Given the description of an element on the screen output the (x, y) to click on. 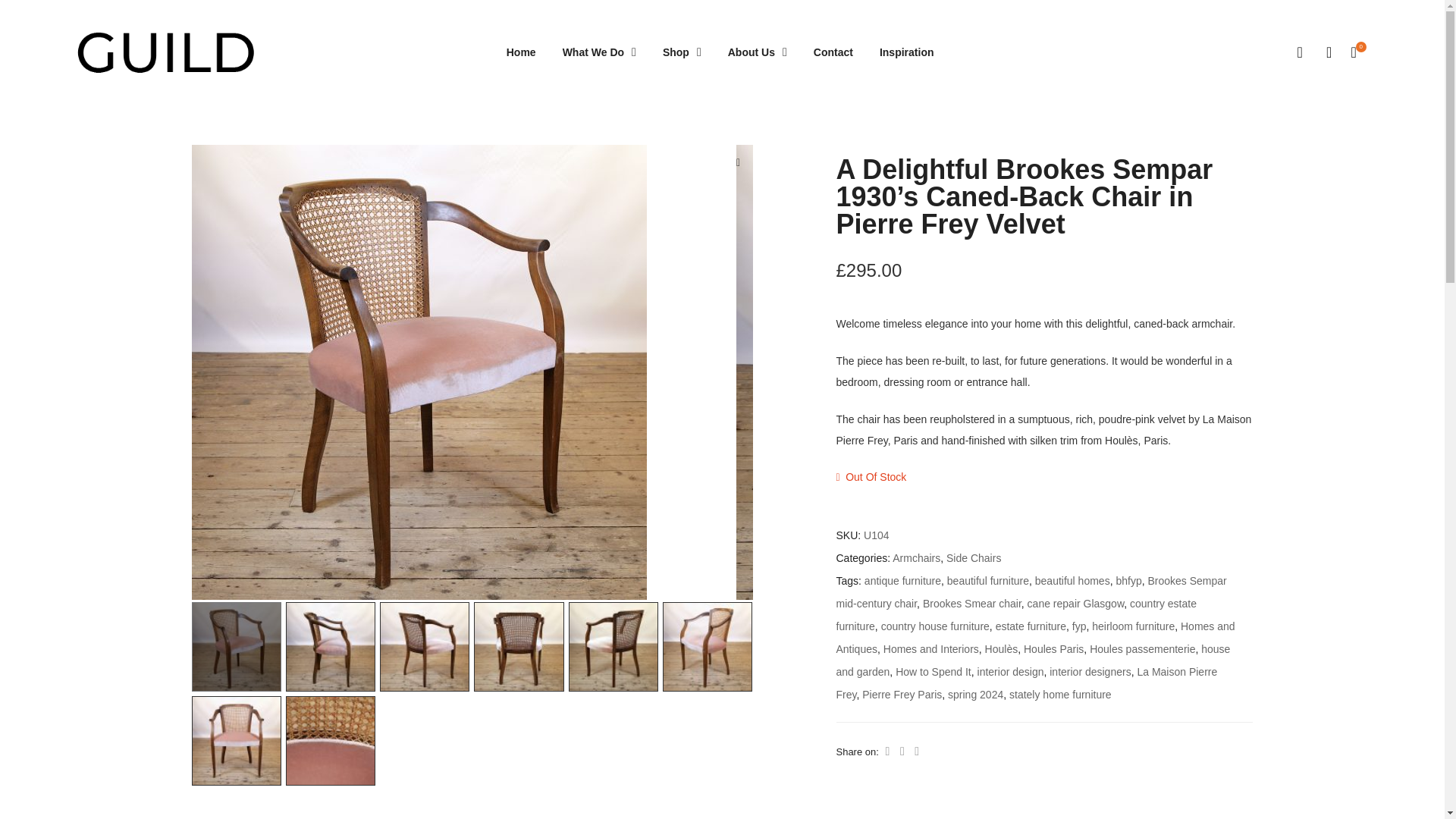
What We Do (598, 52)
Inspiration (907, 52)
Home (521, 52)
About Us (757, 52)
Contact (833, 52)
GUILD (165, 52)
Shop (682, 52)
